Given the description of an element on the screen output the (x, y) to click on. 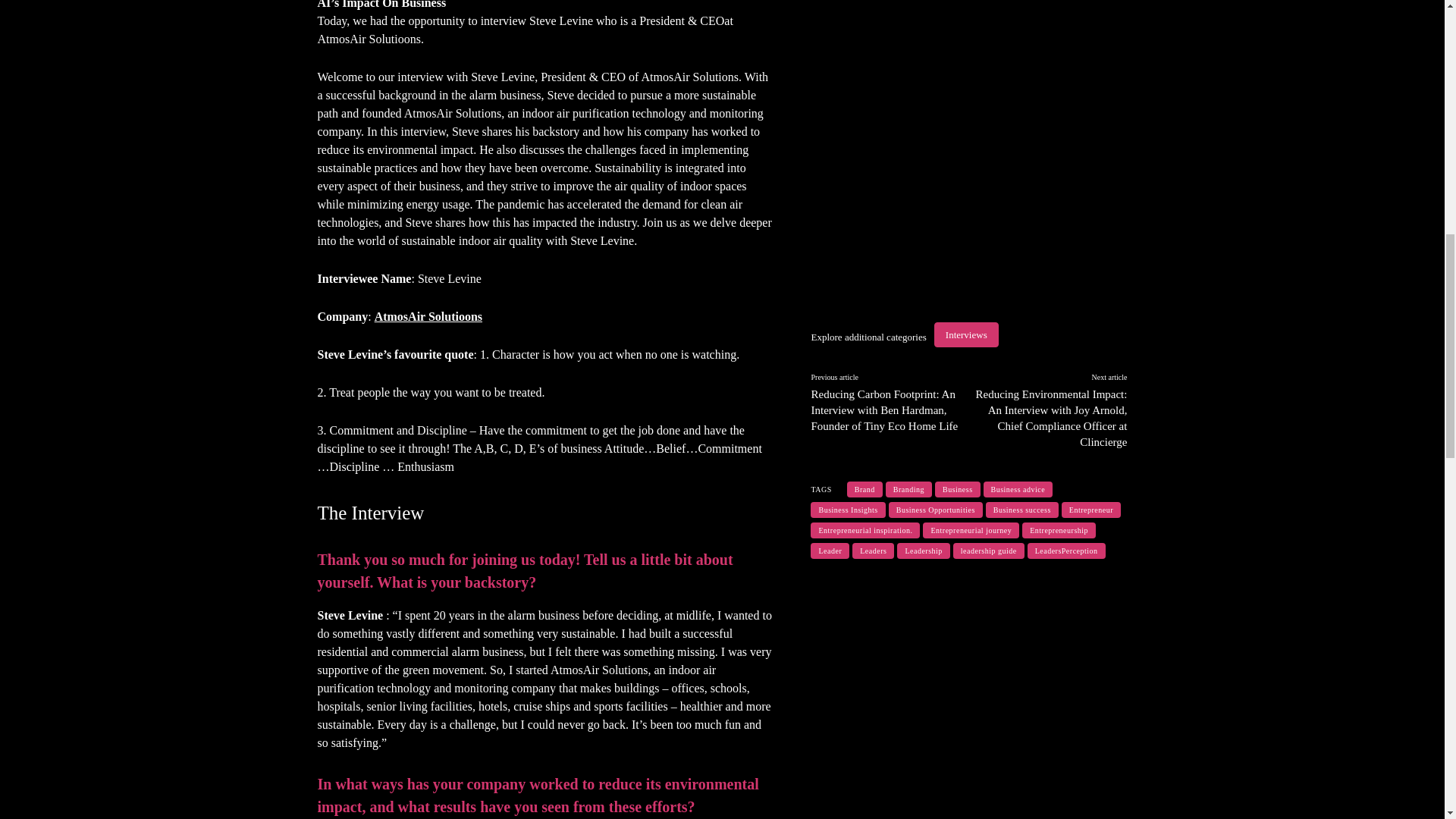
Brand (864, 489)
Branding (908, 489)
Interviews (966, 334)
Business (956, 489)
AtmosAir Solutioons (427, 316)
Business advice (1018, 489)
